Given the description of an element on the screen output the (x, y) to click on. 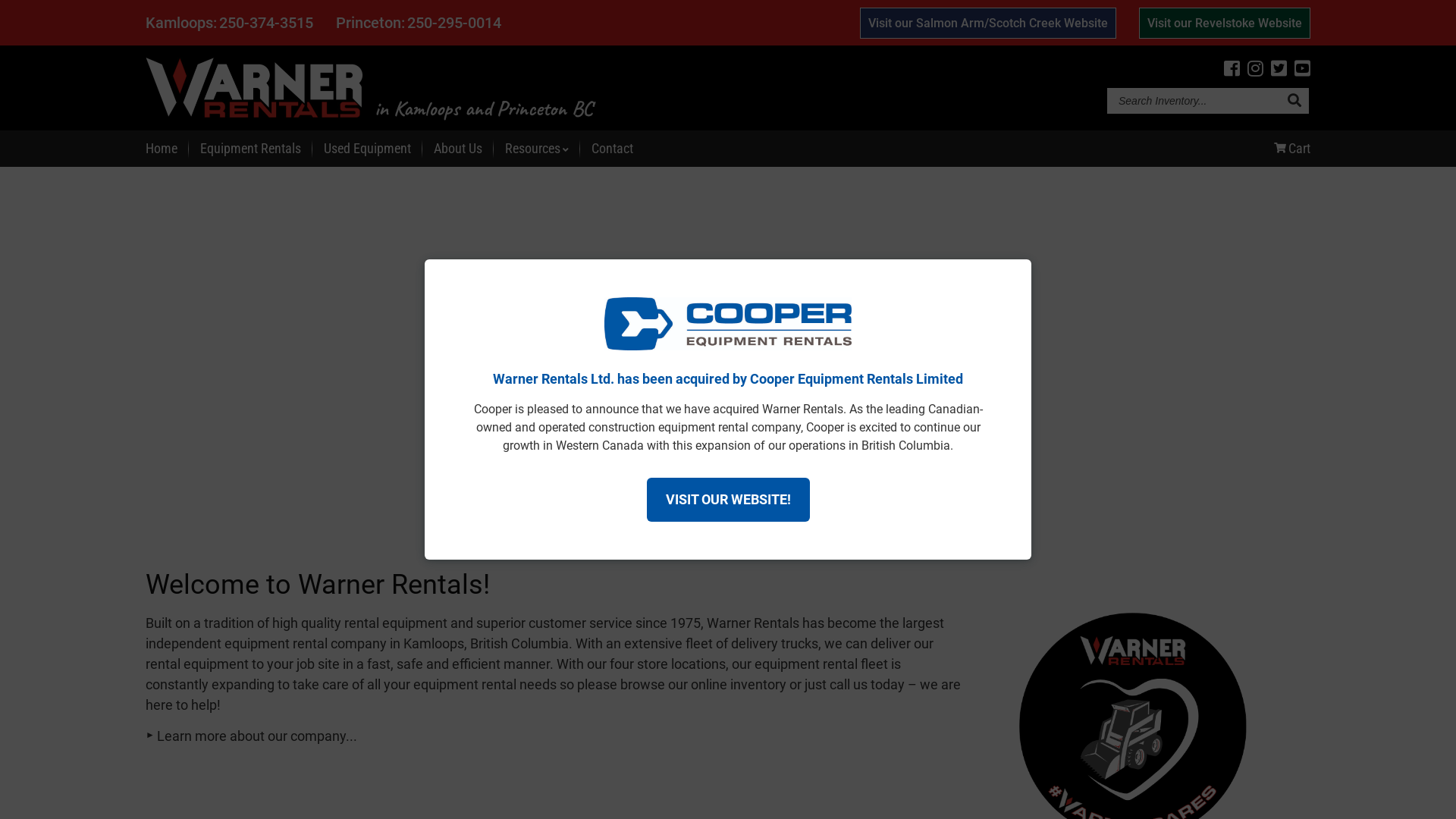
Visit our Revelstoke Website Element type: text (1224, 22)
Visit our Salmon Arm/Scotch Creek Website Element type: text (987, 22)
Used Equipment Element type: text (367, 148)
Home Element type: text (161, 148)
250-374-3515 Element type: text (266, 22)
Contact Element type: text (612, 148)
Visit Warner Rentals on Twitter! Element type: hover (1278, 68)
Visit Warner Rentals on Instagram! Element type: hover (1255, 68)
VISIT OUR WEBSITE! Element type: text (727, 499)
About Us Element type: text (457, 148)
Equipment Rentals Element type: text (250, 148)
Resources Element type: text (536, 148)
250-295-0014 Element type: text (454, 22)
Visit Warner Rentals on YouTube! Element type: hover (1302, 68)
Visit Warner Rentals on Facebook! Element type: hover (1231, 68)
Cart Element type: text (1292, 148)
Cooper Equipment Rentals website Element type: hover (727, 357)
Learn more about our company... Element type: text (251, 735)
Search Inventory... Element type: hover (1294, 101)
